Given the description of an element on the screen output the (x, y) to click on. 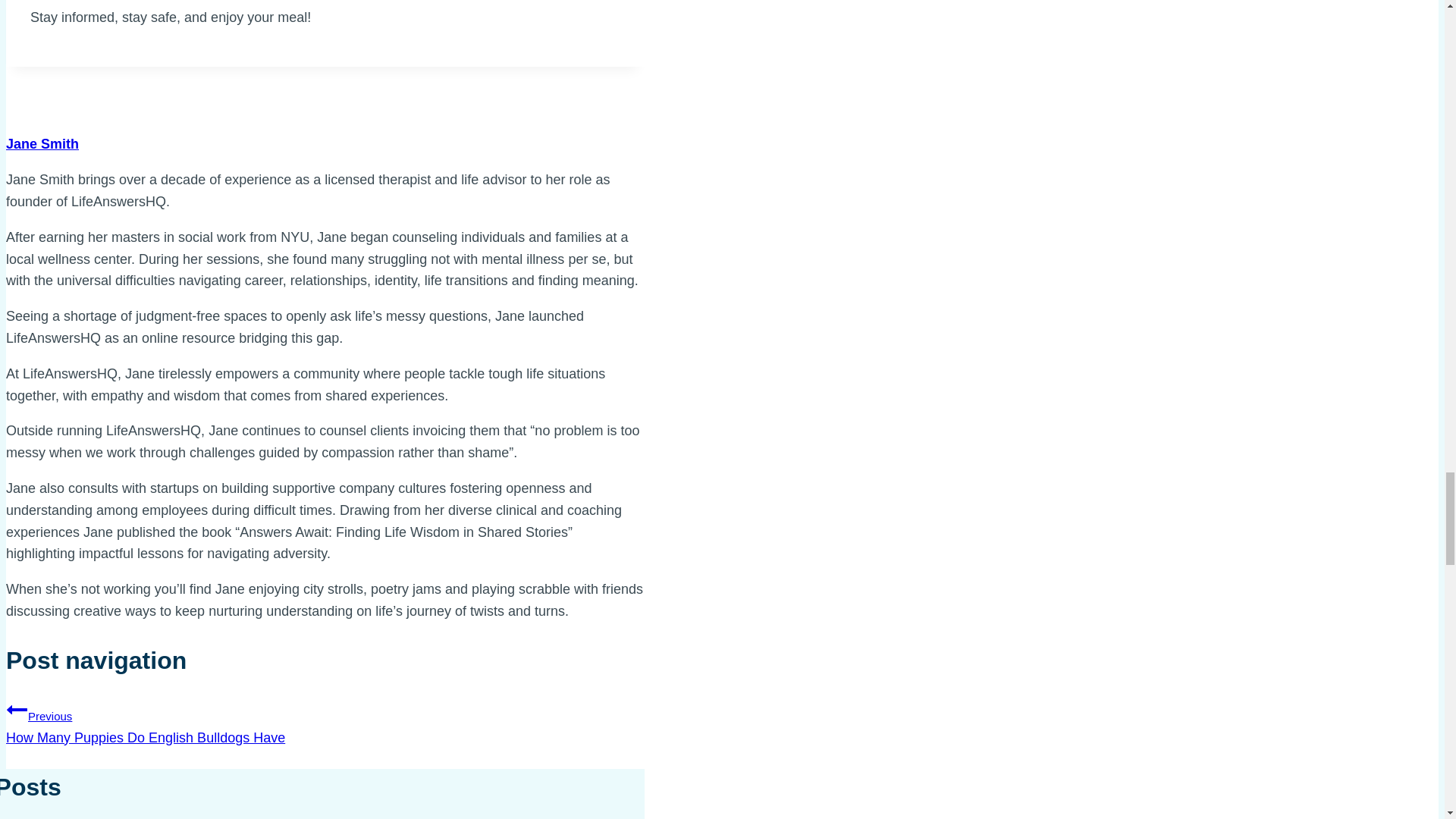
Previous (16, 709)
Jane Smith (325, 722)
Posts by Jane Smith (41, 143)
